Given the description of an element on the screen output the (x, y) to click on. 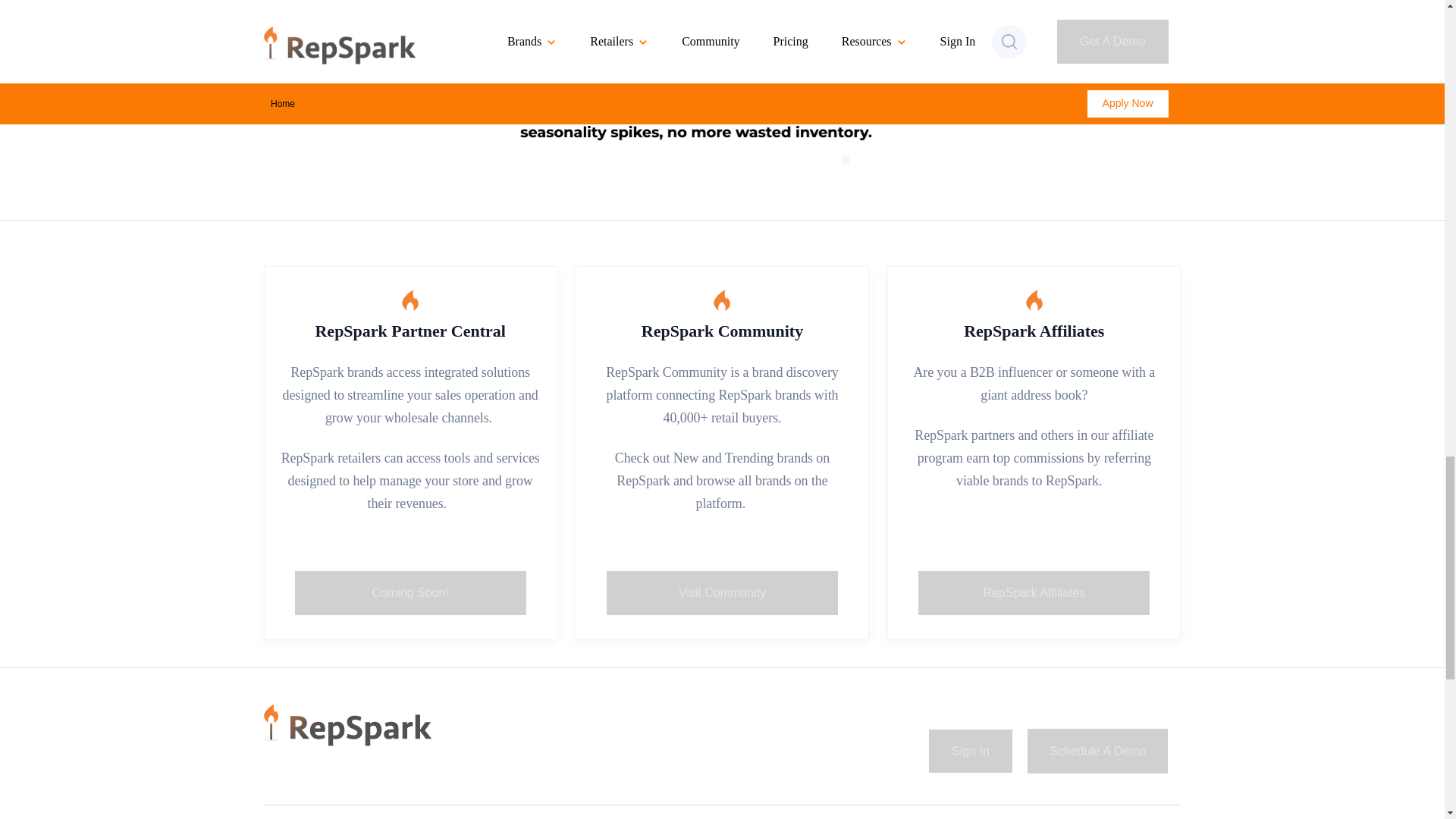
RepSparkLogo-2 (346, 725)
